Given the description of an element on the screen output the (x, y) to click on. 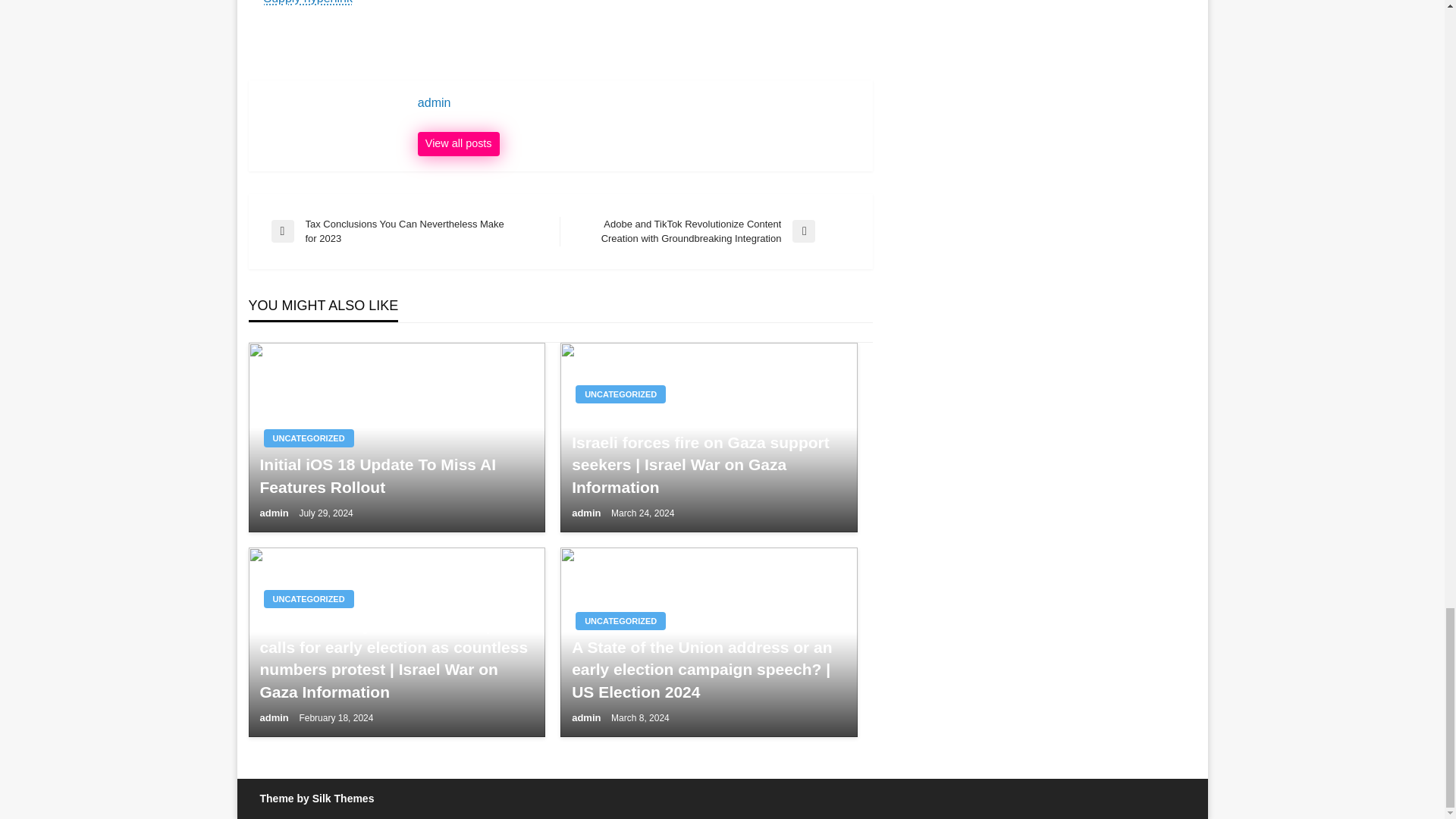
admin (275, 512)
View all posts (458, 143)
UNCATEGORIZED (620, 620)
Supply hyperlink (307, 2)
admin (458, 143)
admin (588, 512)
admin (637, 102)
admin (637, 102)
UNCATEGORIZED (620, 393)
UNCATEGORIZED (308, 620)
admin (588, 717)
UNCATEGORIZED (308, 416)
admin (275, 717)
